Given the description of an element on the screen output the (x, y) to click on. 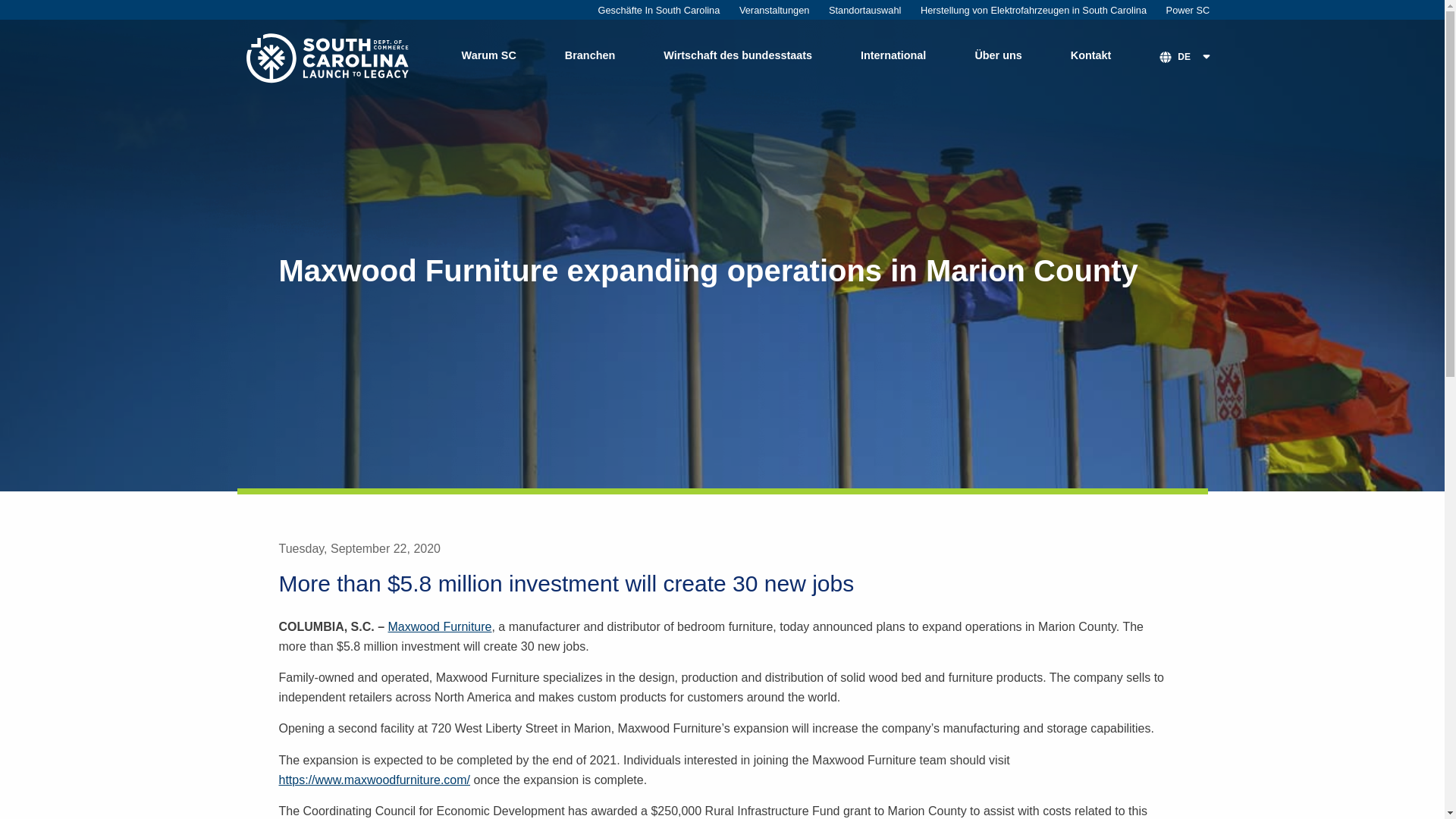
Power SC (1186, 11)
Warum SC (489, 57)
Branchen (589, 57)
Back to home (329, 56)
Herstellung von Elektrofahrzeugen in South Carolina (1033, 11)
Veranstaltungen (773, 11)
Standortauswahl (864, 11)
